Given the description of an element on the screen output the (x, y) to click on. 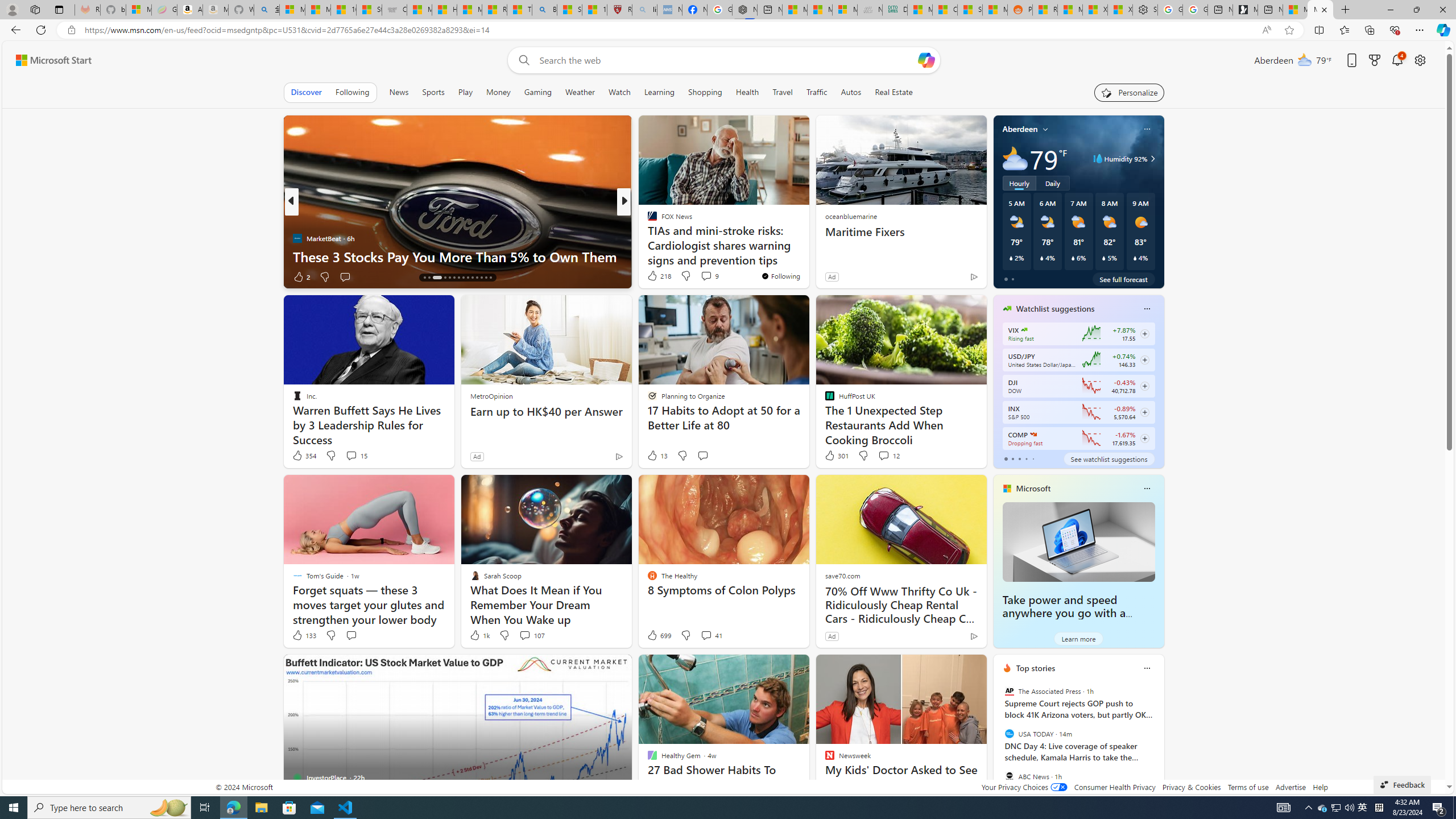
AutomationID: tab-27 (486, 277)
The Best Single Stock to Own for 5 Years (807, 256)
AutomationID: tab-28 (490, 277)
View comments 5 Comment (702, 276)
2024 Promotion - Book Here (807, 256)
View comments 9 Comment (705, 275)
View comments 107 Comment (523, 635)
View comments 23 Comment (703, 276)
Personalize your feed" (1129, 92)
4 Like (651, 276)
2 Like (301, 276)
